Given the description of an element on the screen output the (x, y) to click on. 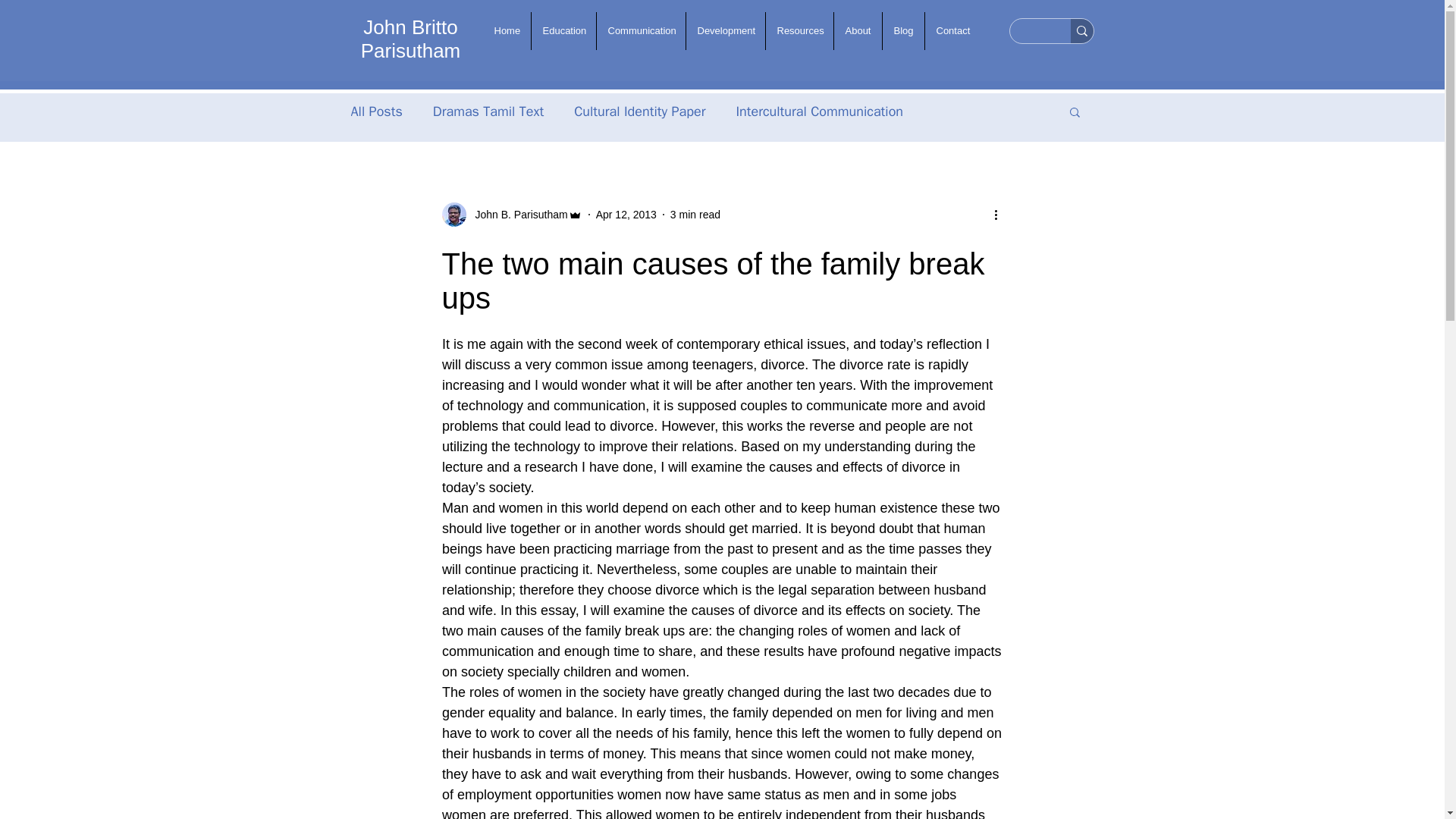
Home (505, 30)
John B. Parisutham (516, 213)
Education (563, 30)
Intercultural Communication (818, 111)
Apr 12, 2013 (625, 214)
Blog (903, 30)
Development (724, 30)
Cultural Identity Paper (638, 111)
Dramas Tamil Text (487, 111)
Communication (639, 30)
Contact (951, 30)
All Posts (375, 111)
3 min read (694, 214)
